Given the description of an element on the screen output the (x, y) to click on. 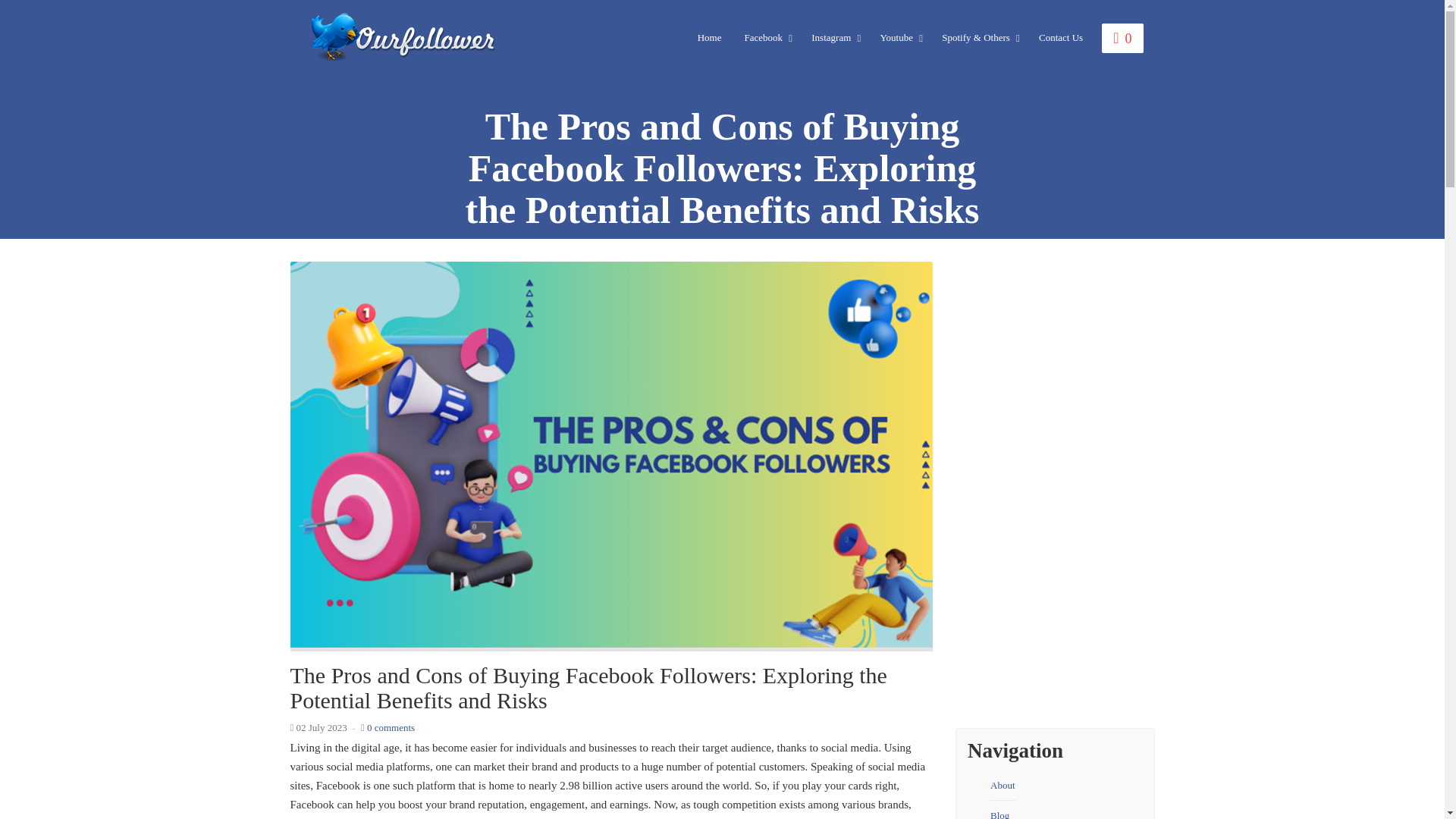
Home (709, 37)
Contact Us (1060, 37)
Instagram (833, 37)
Youtube (900, 37)
Blog (999, 809)
0 (1122, 38)
0 comments (390, 727)
Facebook (765, 37)
